Given the description of an element on the screen output the (x, y) to click on. 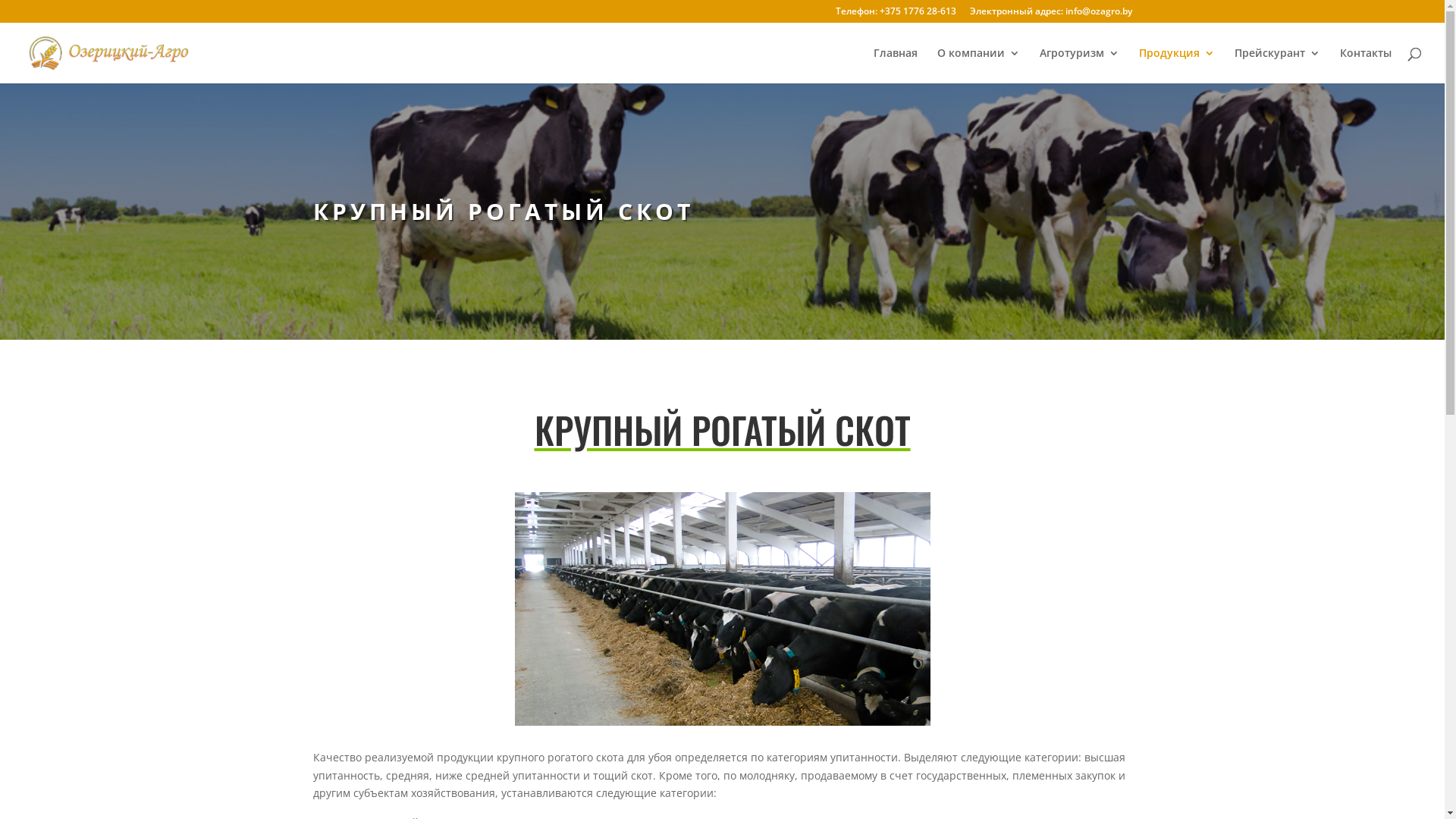
cow2 Element type: hover (721, 608)
